Given the description of an element on the screen output the (x, y) to click on. 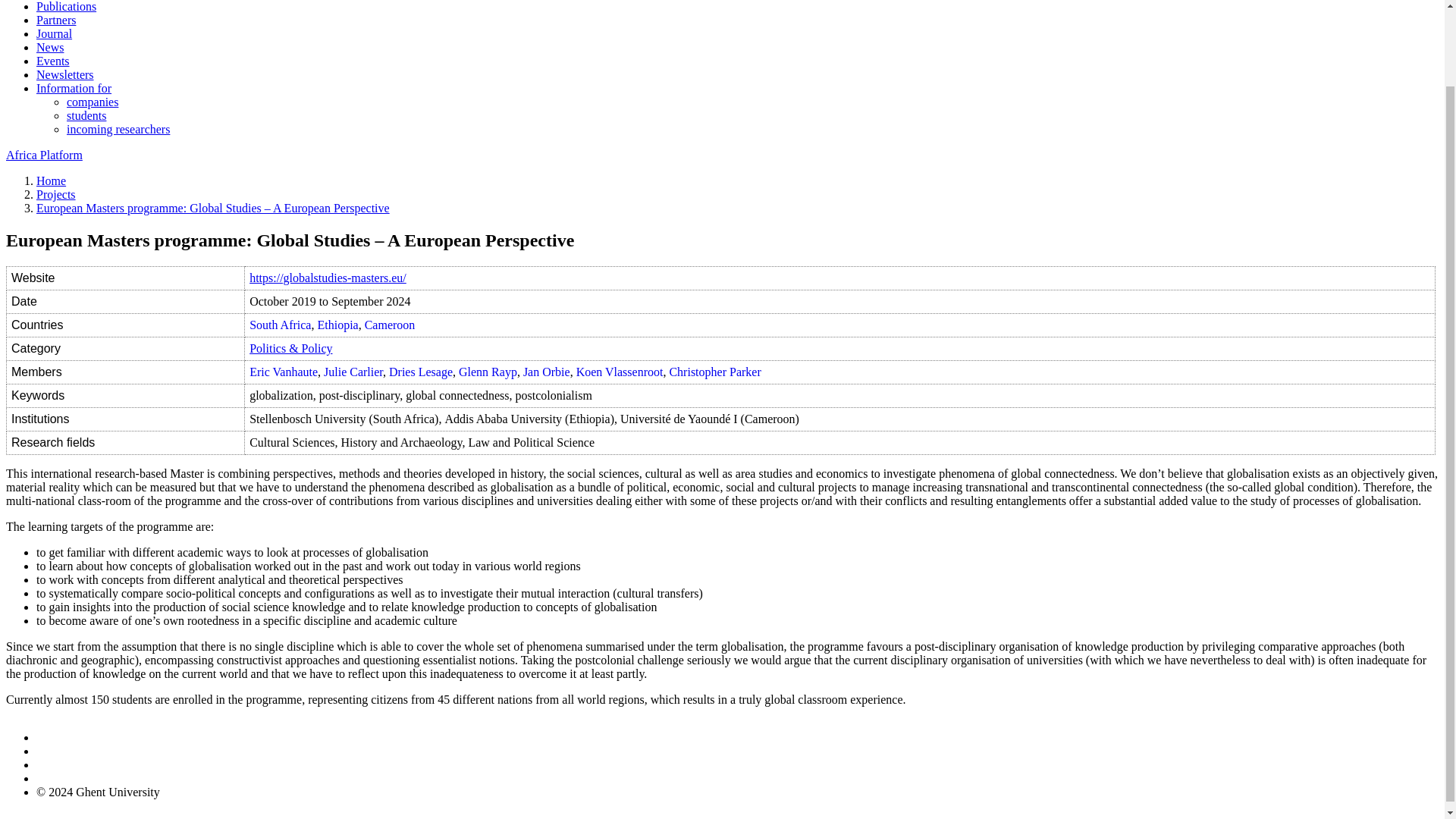
Cookies (55, 750)
incoming researchers (118, 128)
Journal (53, 33)
Log in (52, 778)
News (50, 47)
Accessibility (68, 764)
Projects (55, 194)
Publications (66, 6)
Koen Vlassenroot (619, 371)
Dries Lesage (420, 371)
Information for (74, 88)
Cameroon (389, 324)
South Africa (279, 324)
Newsletters (65, 74)
companies (91, 101)
